Given the description of an element on the screen output the (x, y) to click on. 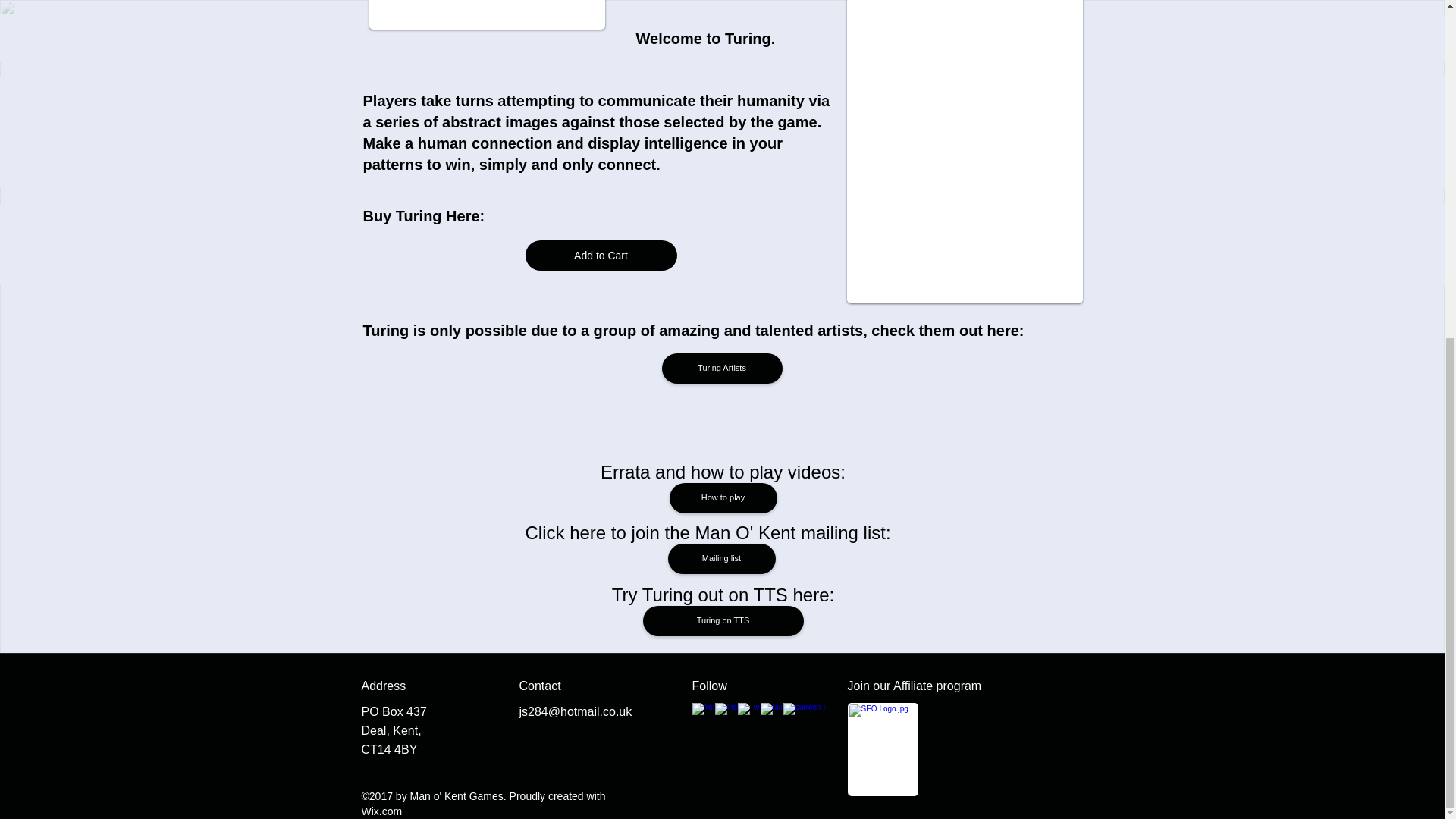
Mailing list (720, 558)
Add to Cart (600, 255)
How to play (722, 498)
Turing Artists (721, 368)
